Given the description of an element on the screen output the (x, y) to click on. 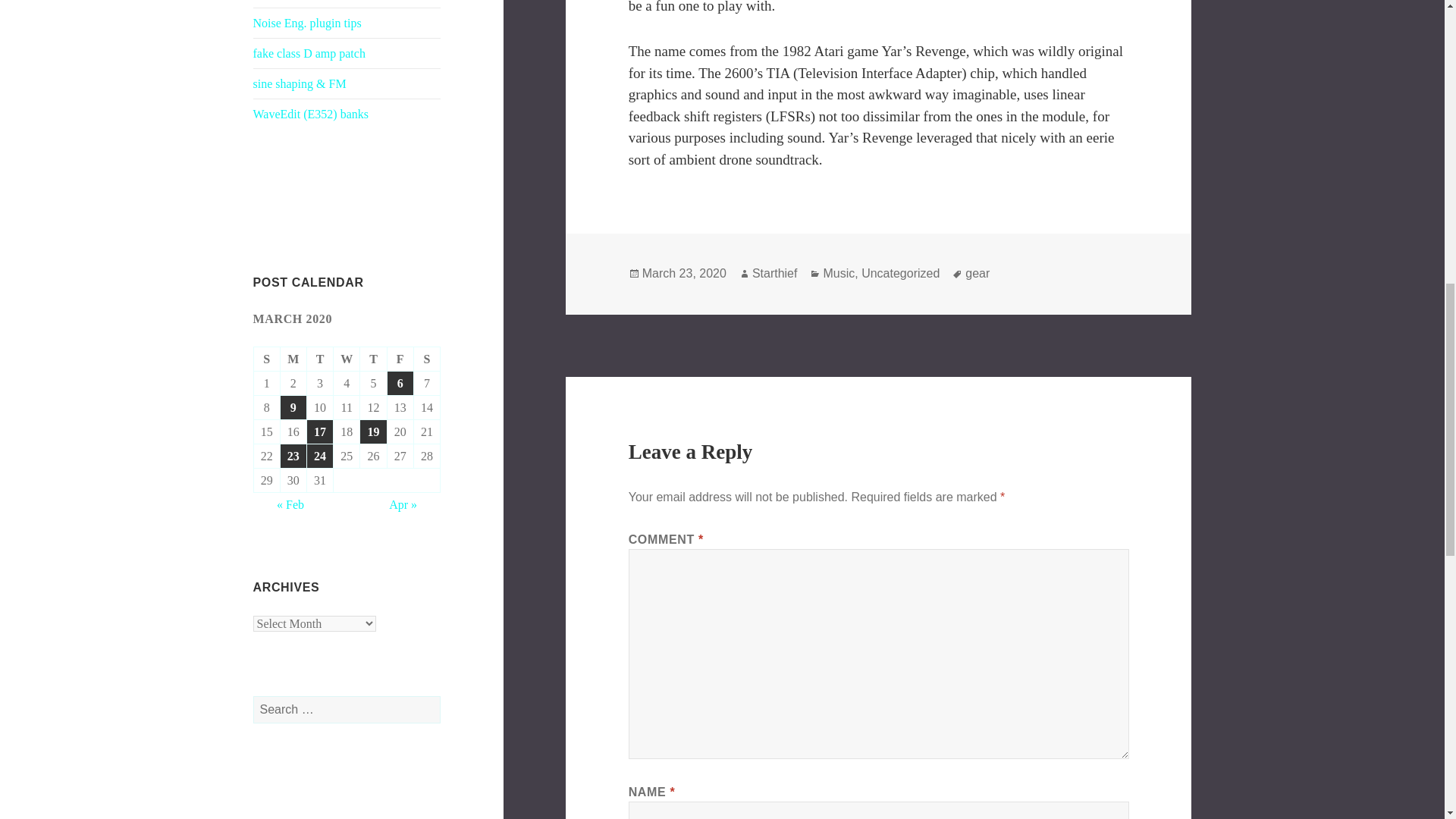
Tuesday (320, 359)
Uncategorized (900, 273)
Wednesday (346, 359)
Saturday (427, 359)
19 (372, 431)
fake class D amp patch (309, 52)
24 (320, 455)
Friday (400, 359)
Starthief (774, 273)
